Given the description of an element on the screen output the (x, y) to click on. 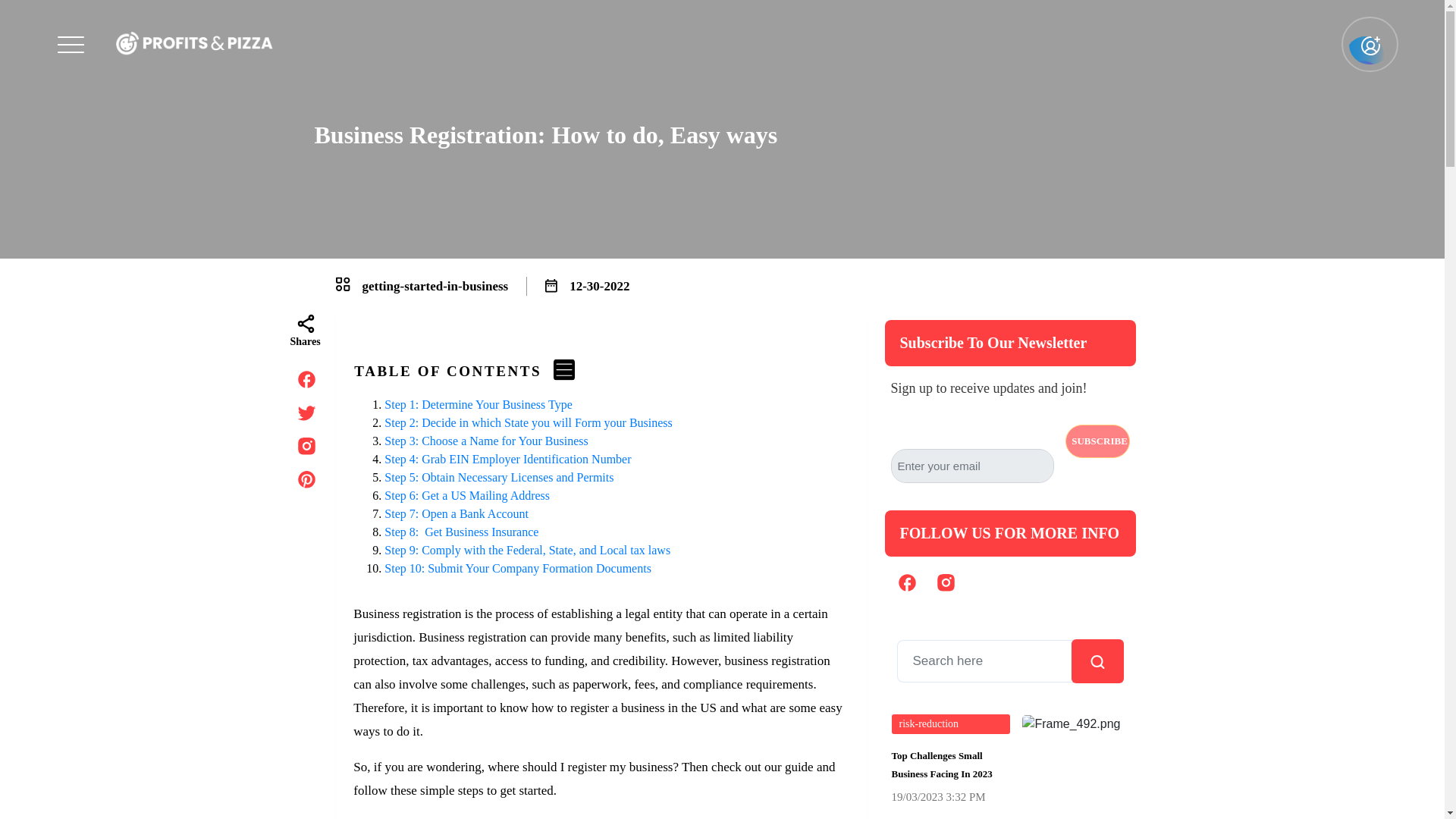
Step 2: Decide in which State you will Form your Business (528, 422)
Step 5: Obtain Necessary Licenses and Permits   (502, 477)
Top Challenges Small Business Facing In 2023 (950, 767)
Step 3: Choose a Name for Your Business  (487, 440)
Step 8:  Get Business Insurance (461, 531)
Step 10: Submit Your Company Formation Documents  (518, 567)
Step 7: Open a Bank Account  (457, 513)
Step 1: Determine Your Business Type  (479, 404)
Step 9: Comply with the Federal, State, and Local tax laws (526, 549)
Step 4: Grab EIN Employer Identification Number  (508, 459)
SUBSCRIBE (1097, 441)
Step 6: Get a US Mailing Address (467, 495)
